Given the description of an element on the screen output the (x, y) to click on. 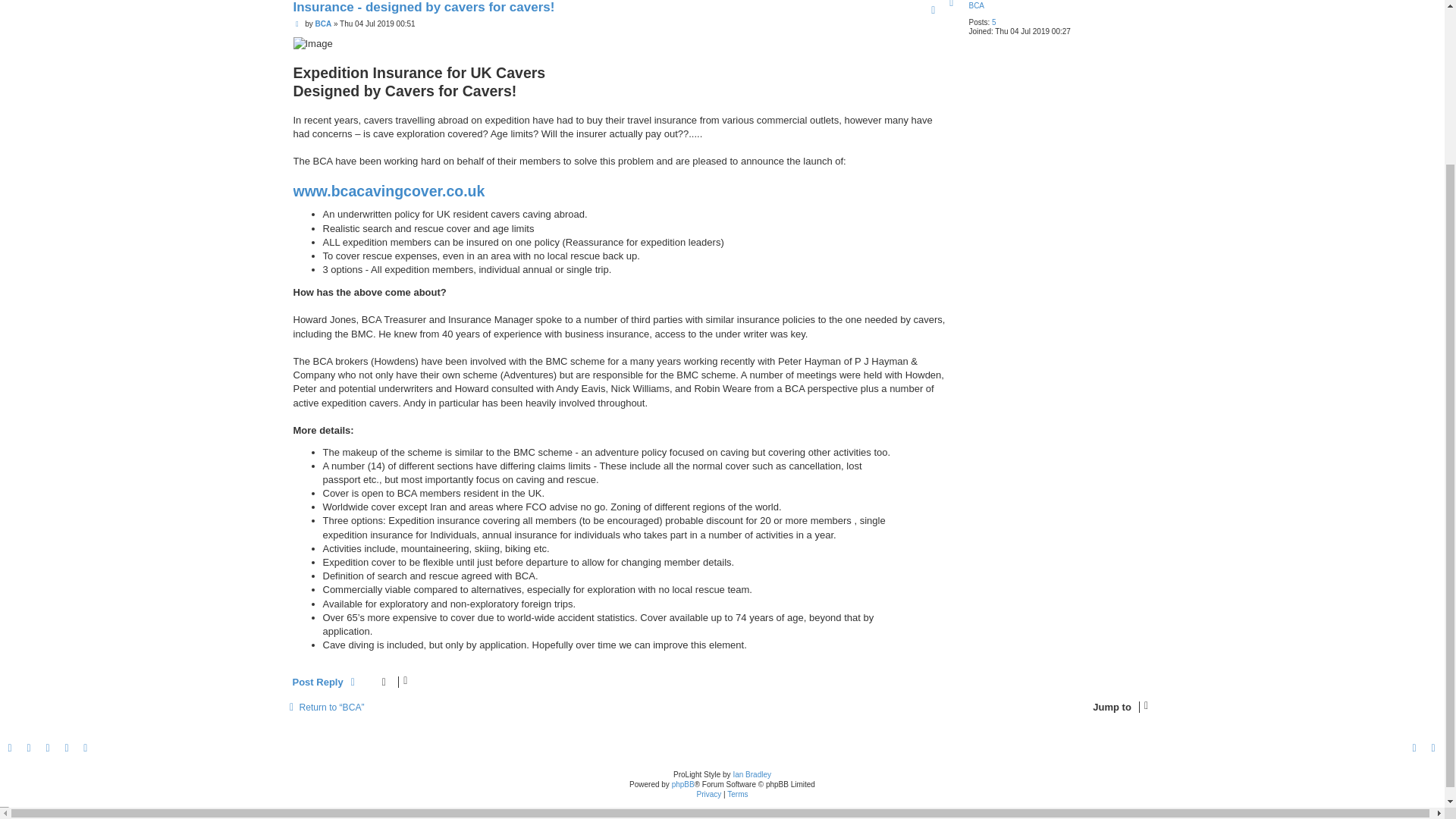
BCA (976, 5)
Top (951, 3)
Quote (933, 10)
Insurance - designed by cavers for cavers! (423, 7)
Post Reply (325, 682)
BCA (322, 23)
Post (298, 23)
www.bcacavingcover.co.uk (388, 190)
Post (298, 23)
Reply with quote (933, 10)
